Given the description of an element on the screen output the (x, y) to click on. 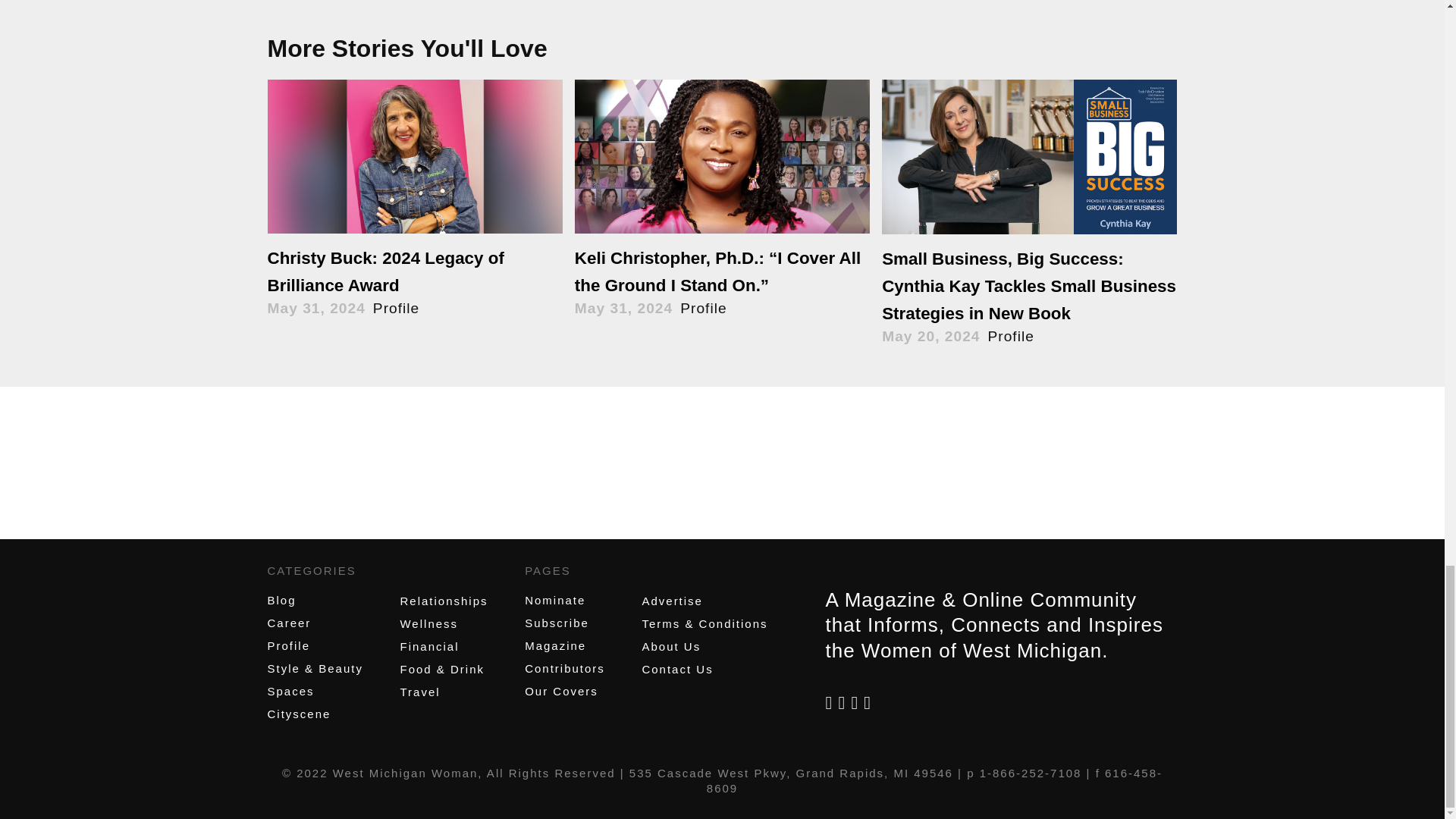
Financial (428, 645)
3rd party ad content (721, 477)
Profile (288, 645)
Spaces (290, 690)
Career (288, 622)
Relationships (442, 600)
Wellness (428, 623)
Blog (280, 599)
Cityscene (298, 713)
